Given the description of an element on the screen output the (x, y) to click on. 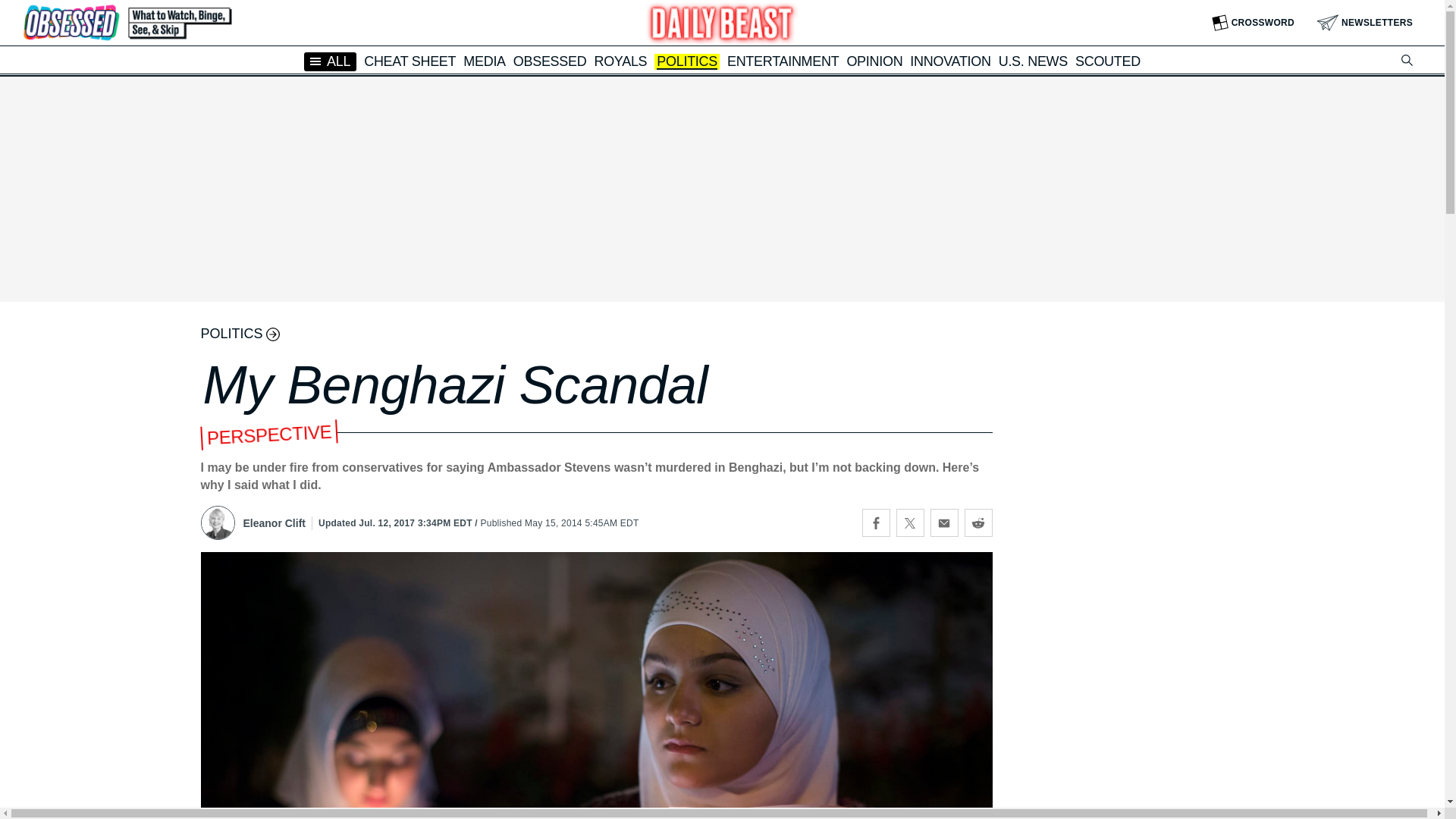
OPINION (873, 60)
CROSSWORD (1252, 22)
ALL (330, 60)
ROYALS (620, 60)
NEWSLETTERS (1364, 22)
U.S. NEWS (1032, 60)
SCOUTED (1107, 60)
POLITICS (686, 61)
CHEAT SHEET (409, 60)
ENTERTAINMENT (782, 60)
OBSESSED (549, 60)
INNOVATION (950, 60)
MEDIA (484, 60)
